Given the description of an element on the screen output the (x, y) to click on. 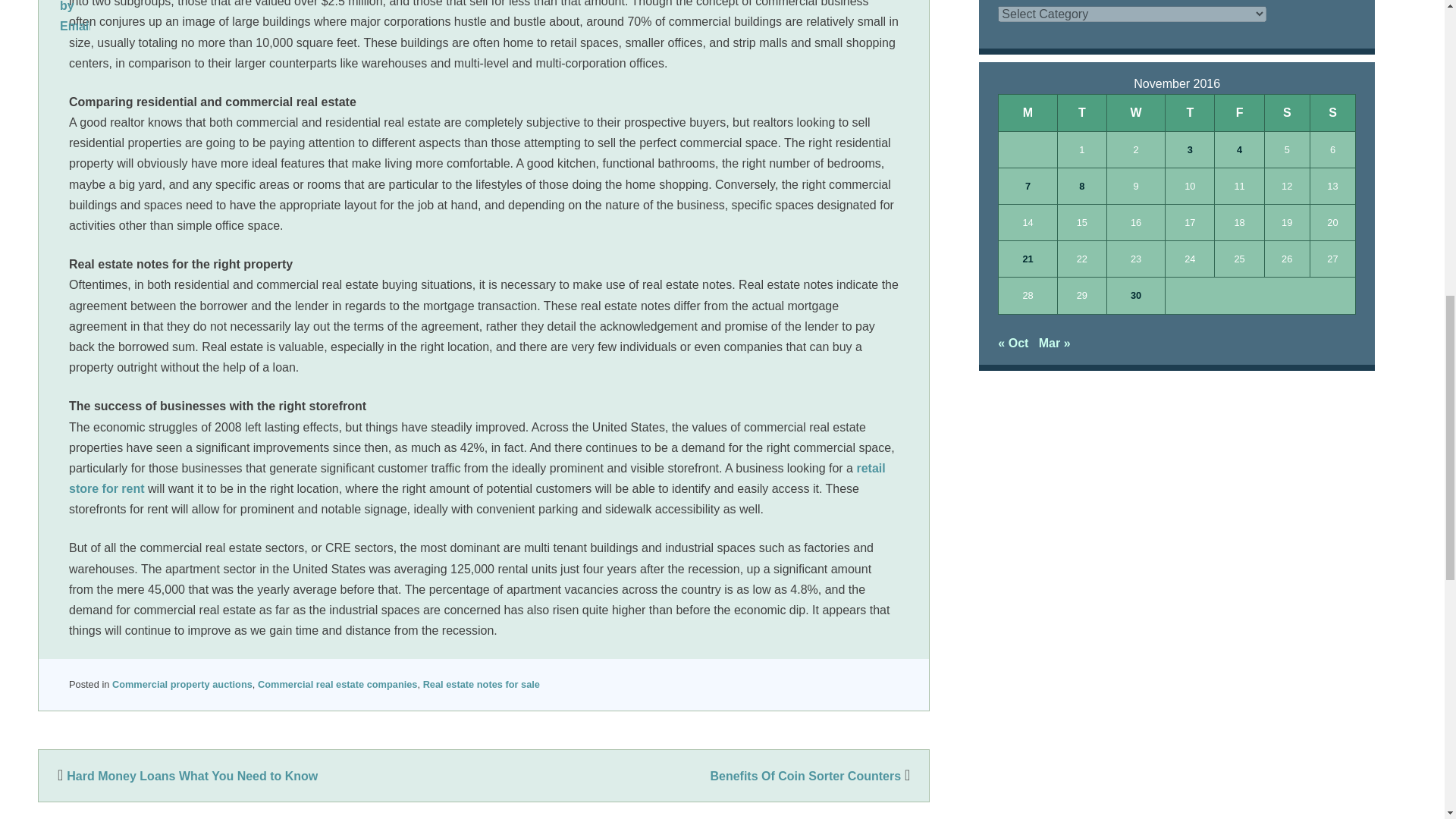
Tenant representation chicago, Commercial lease chicago (476, 478)
Hard Money Loans What You Need to Know (185, 775)
Benefits Of Coin Sorter Counters (812, 775)
Wednesday (1135, 113)
Thursday (1190, 113)
Commercial real estate companies (337, 684)
Commercial property auctions (181, 684)
21 (1026, 258)
Monday (1027, 113)
Sunday (1331, 113)
retail store for rent (476, 478)
Tuesday (1081, 113)
Real estate notes for sale (481, 684)
Friday (1238, 113)
Saturday (1285, 113)
